Given the description of an element on the screen output the (x, y) to click on. 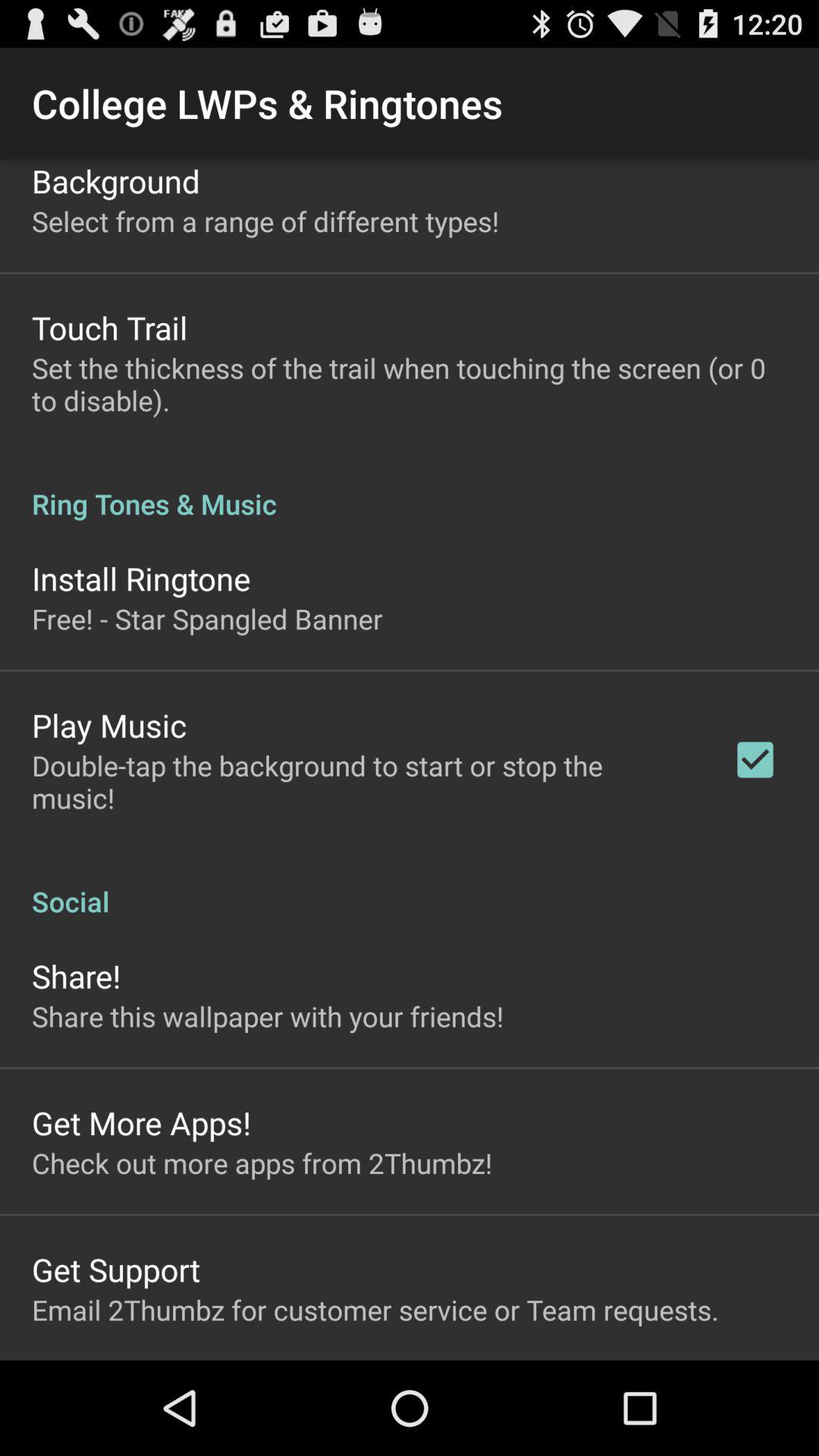
swipe to the select from a item (265, 221)
